Given the description of an element on the screen output the (x, y) to click on. 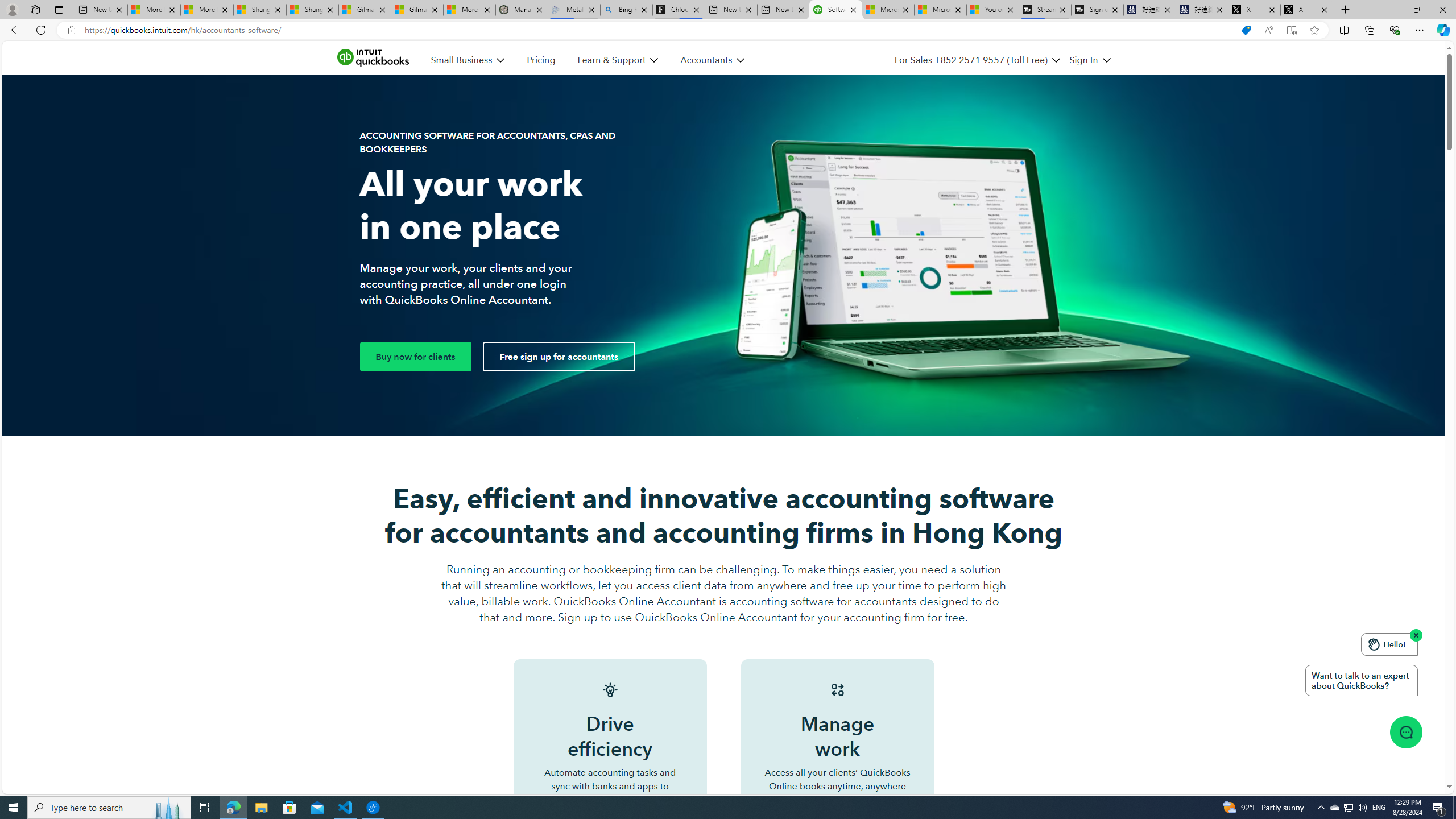
Class: MenuItem_dDown__f585abf6 MenuItem_white__f585abf6 (1106, 60)
Learn & Support (617, 60)
Enter Immersive Reader (F9) (1291, 29)
Manatee Mortality Statistics | FWC (521, 9)
Buy now for clients (415, 356)
Chloe Sorvino (678, 9)
